Given the description of an element on the screen output the (x, y) to click on. 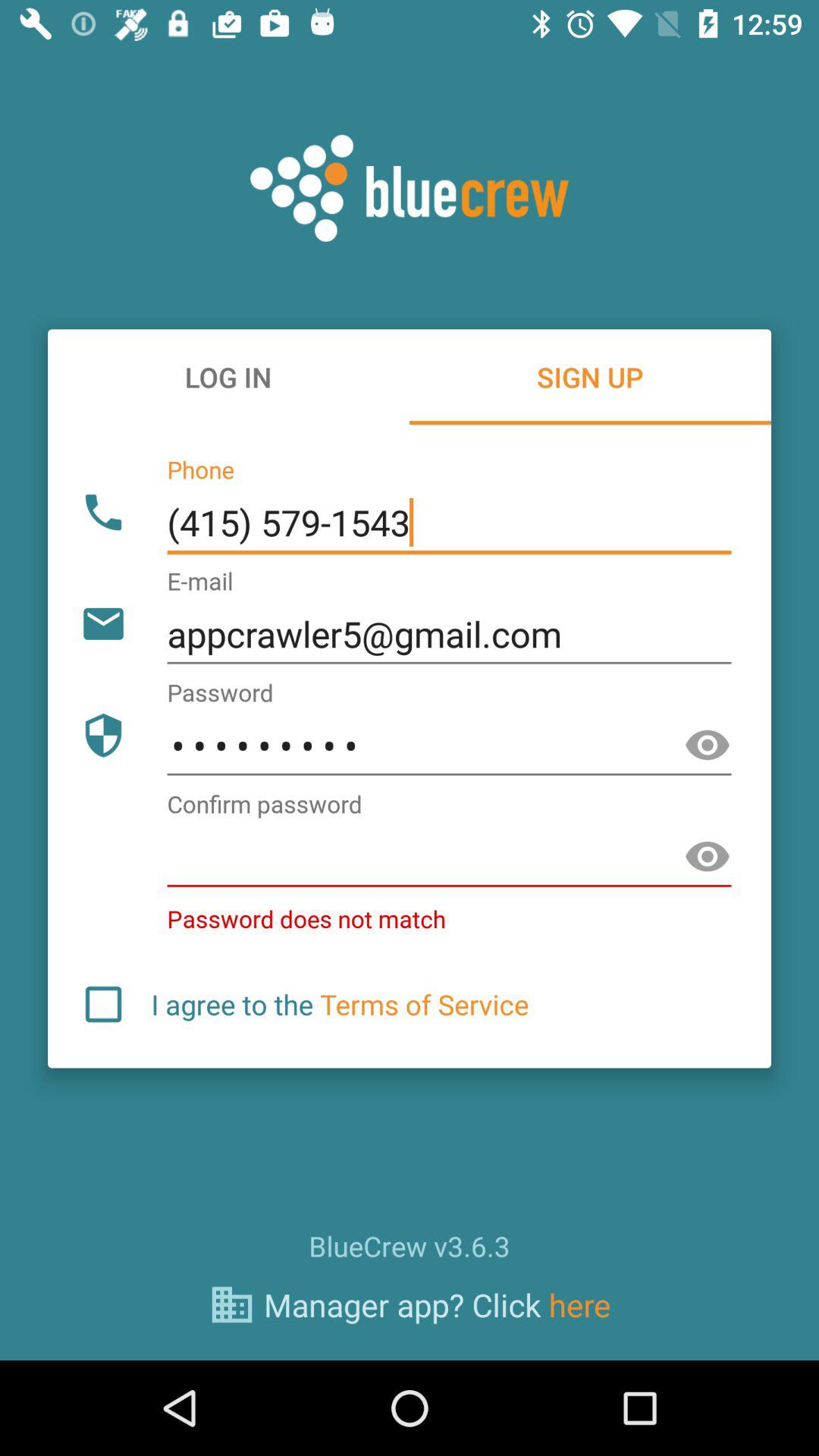
seen the option (707, 857)
